Given the description of an element on the screen output the (x, y) to click on. 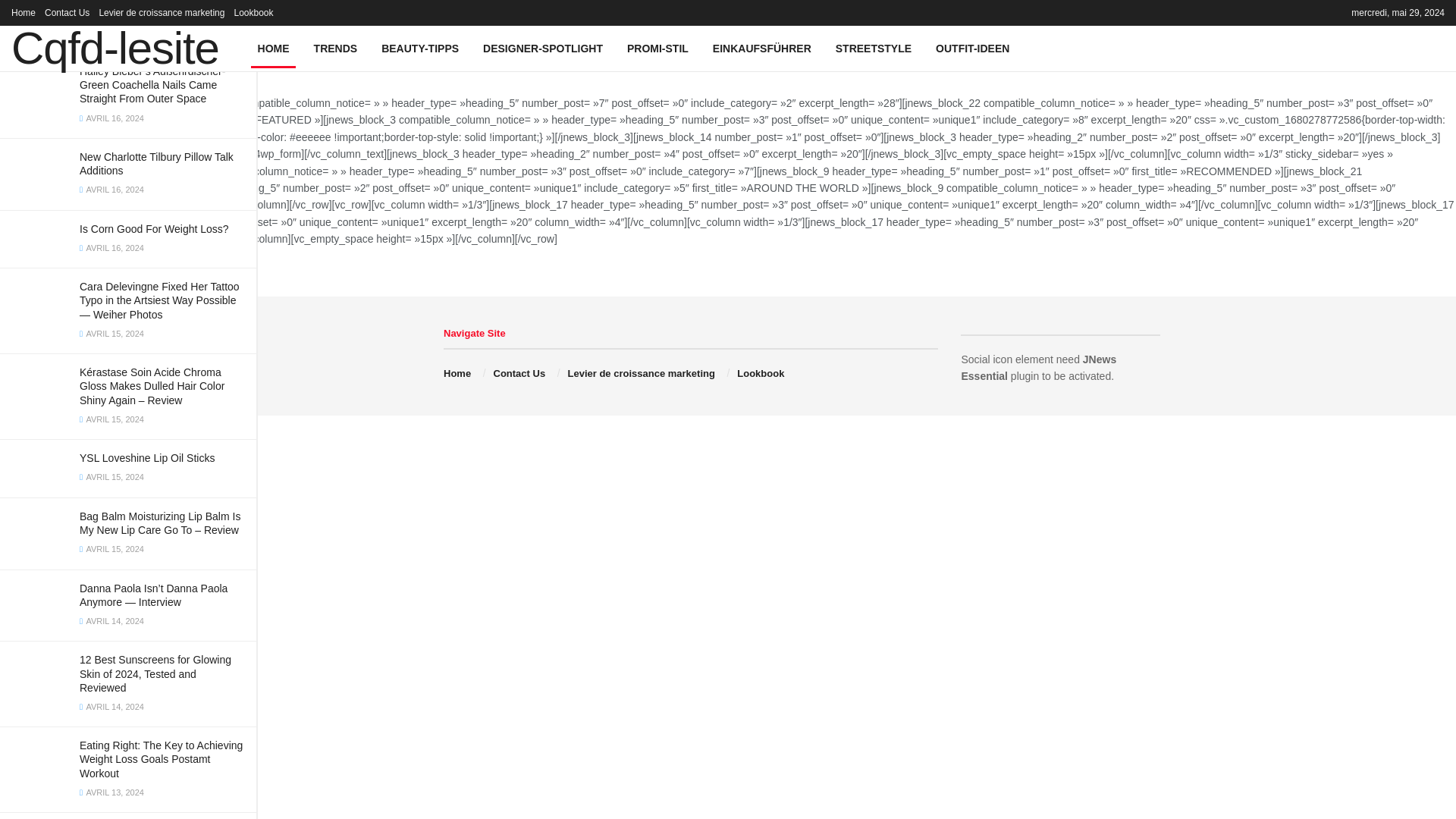
Is Corn Good For Weight Loss? (154, 228)
Filter (227, 13)
Cqfd-lesite (115, 48)
Home (22, 12)
Levier de croissance marketing (161, 12)
BEAUTY-TIPPS (419, 48)
Lookbook (252, 12)
New Charlotte Tilbury Pillow Talk Additions (156, 163)
YSL Loveshine Lip Oil Sticks (147, 458)
DESIGNER-SPOTLIGHT (542, 48)
STREETSTYLE (873, 48)
TRENDS (335, 48)
Contact Us (66, 12)
